Given the description of an element on the screen output the (x, y) to click on. 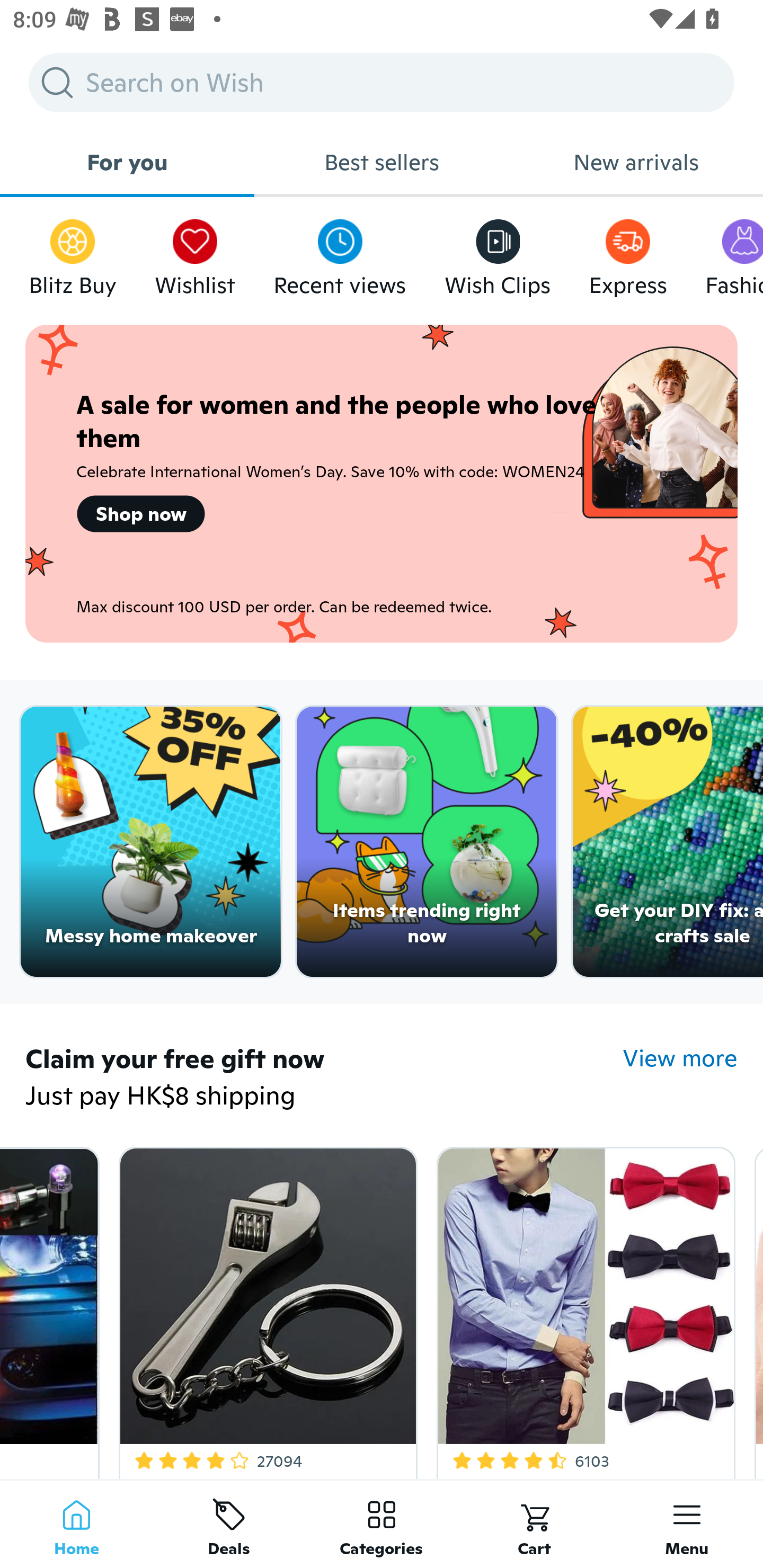
Search on Wish (381, 82)
For you (127, 161)
Best sellers (381, 161)
New arrivals (635, 161)
Blitz Buy (72, 252)
Wishlist (194, 252)
Recent views (339, 252)
Wish Clips (497, 252)
Express (627, 252)
Fashion (734, 252)
Messy home makeover (150, 841)
Items trending right now (426, 841)
Get your DIY fix: arts & crafts sale (668, 841)
Claim your free gift now
Just pay HK$8 shipping (323, 1078)
View more (679, 1058)
4 Star Rating 27094 Free (264, 1308)
4.4 Star Rating 6103 Free (582, 1308)
Home (76, 1523)
Deals (228, 1523)
Categories (381, 1523)
Cart (533, 1523)
Menu (686, 1523)
